Given the description of an element on the screen output the (x, y) to click on. 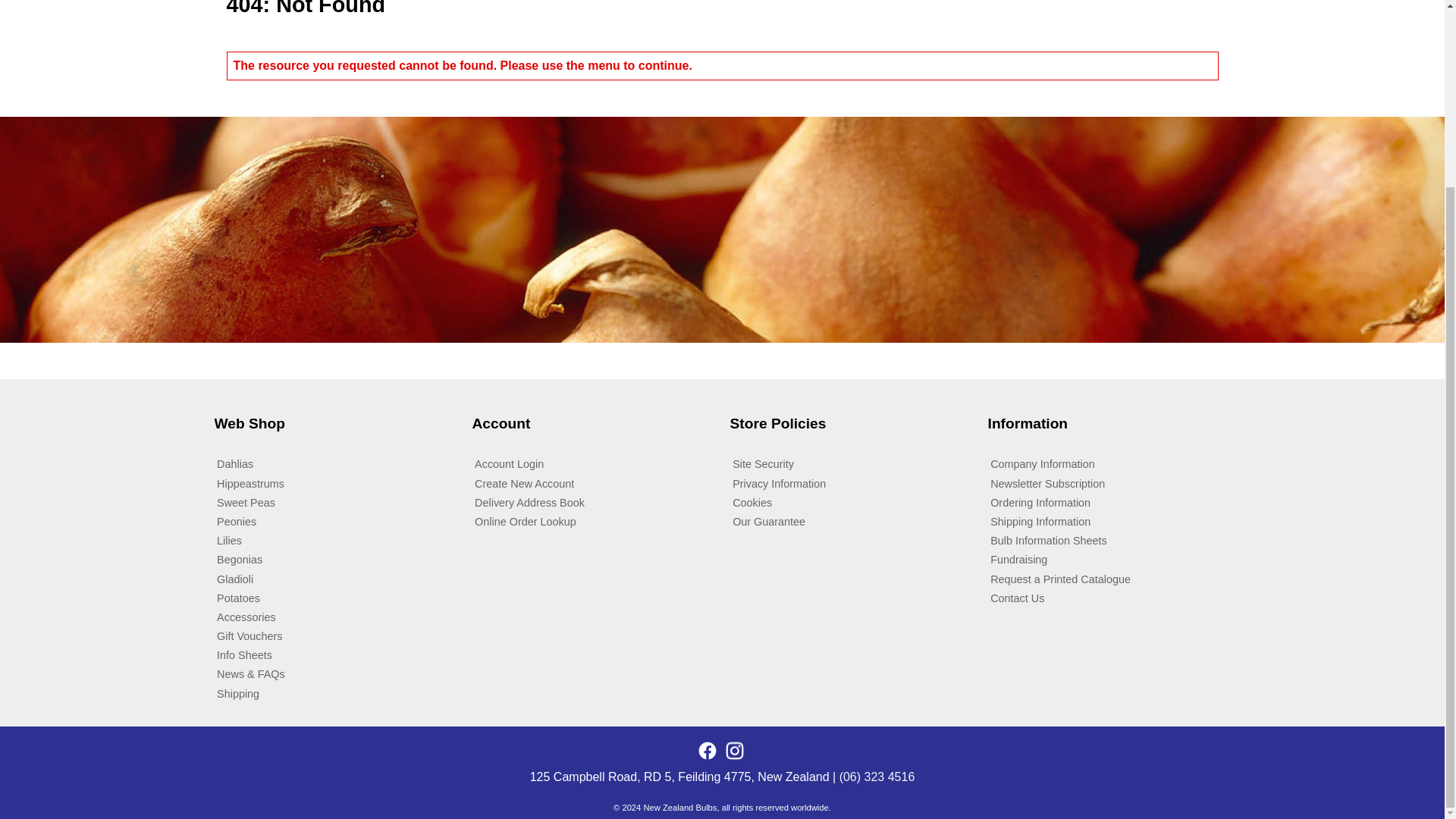
Lilies (335, 540)
Peonies (335, 520)
Sweet Peas (335, 502)
Dahlias (335, 464)
Hippeastrums (335, 483)
